Given the description of an element on the screen output the (x, y) to click on. 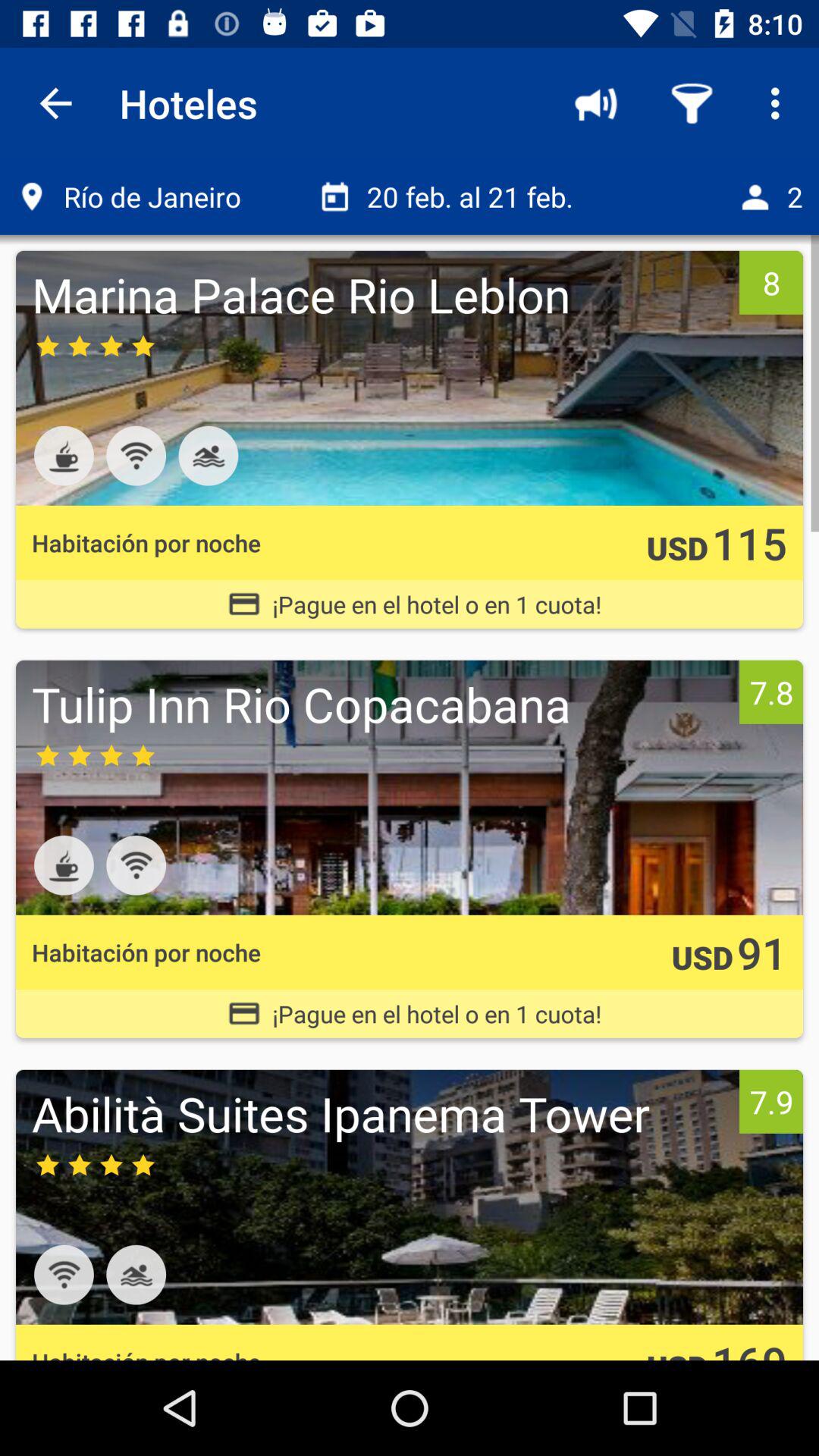
select the item to the left of the 7.9 icon (381, 1113)
